Given the description of an element on the screen output the (x, y) to click on. 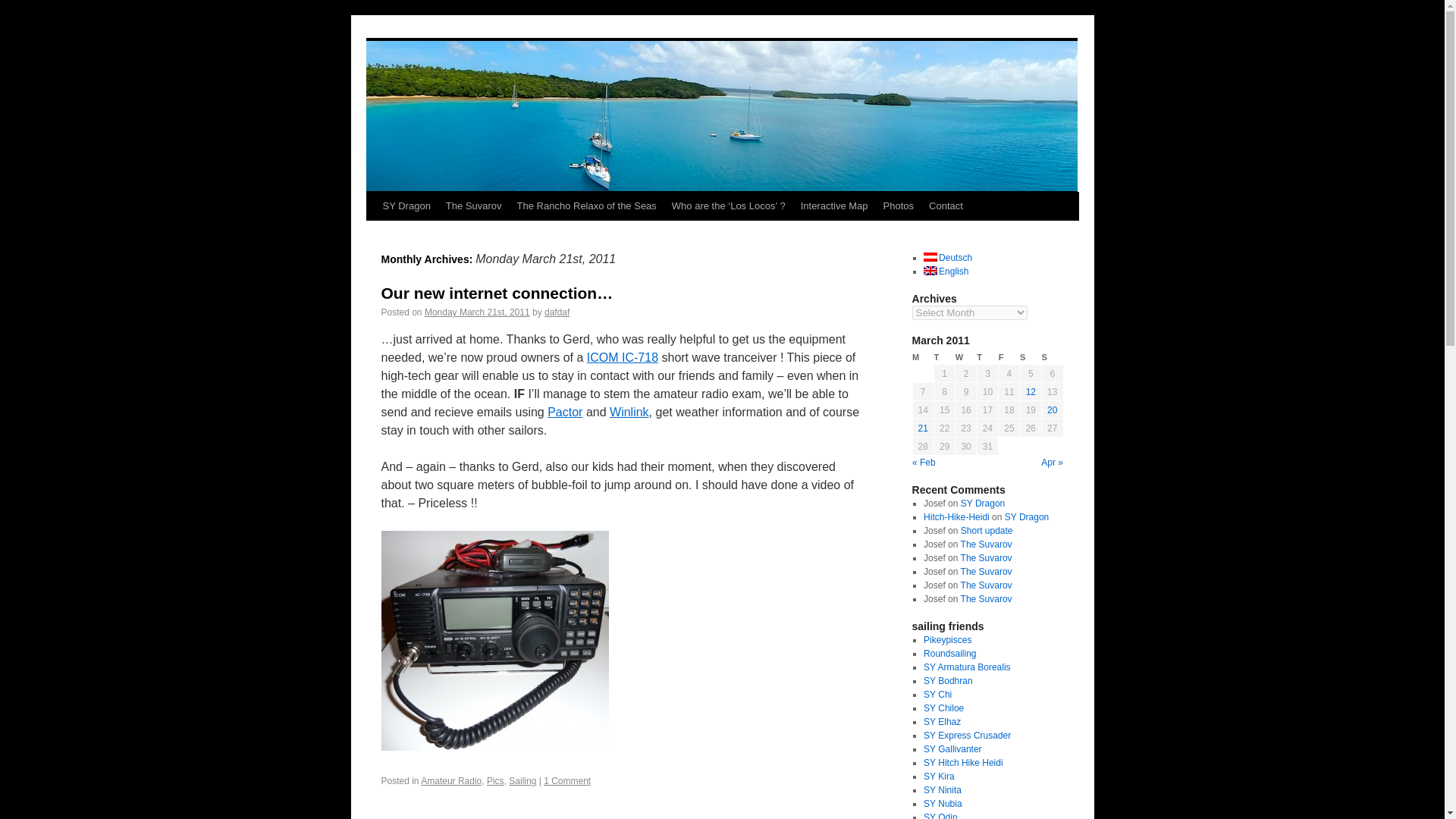
The Suvarov (473, 205)
Contact (946, 205)
View all posts in Amateur Radio (450, 780)
08:34 PM (477, 312)
Pactor (564, 411)
Interactive Map (834, 205)
View all posts in Sailing (521, 780)
ICOM IC-718 (622, 357)
1 Comment (567, 780)
The Rancho Relaxo of the Seas (586, 205)
View all posts in Pics (494, 780)
View all posts by dafdaf (556, 312)
Amateur Radio (450, 780)
Sailing (521, 780)
dafdaf (556, 312)
